Given the description of an element on the screen output the (x, y) to click on. 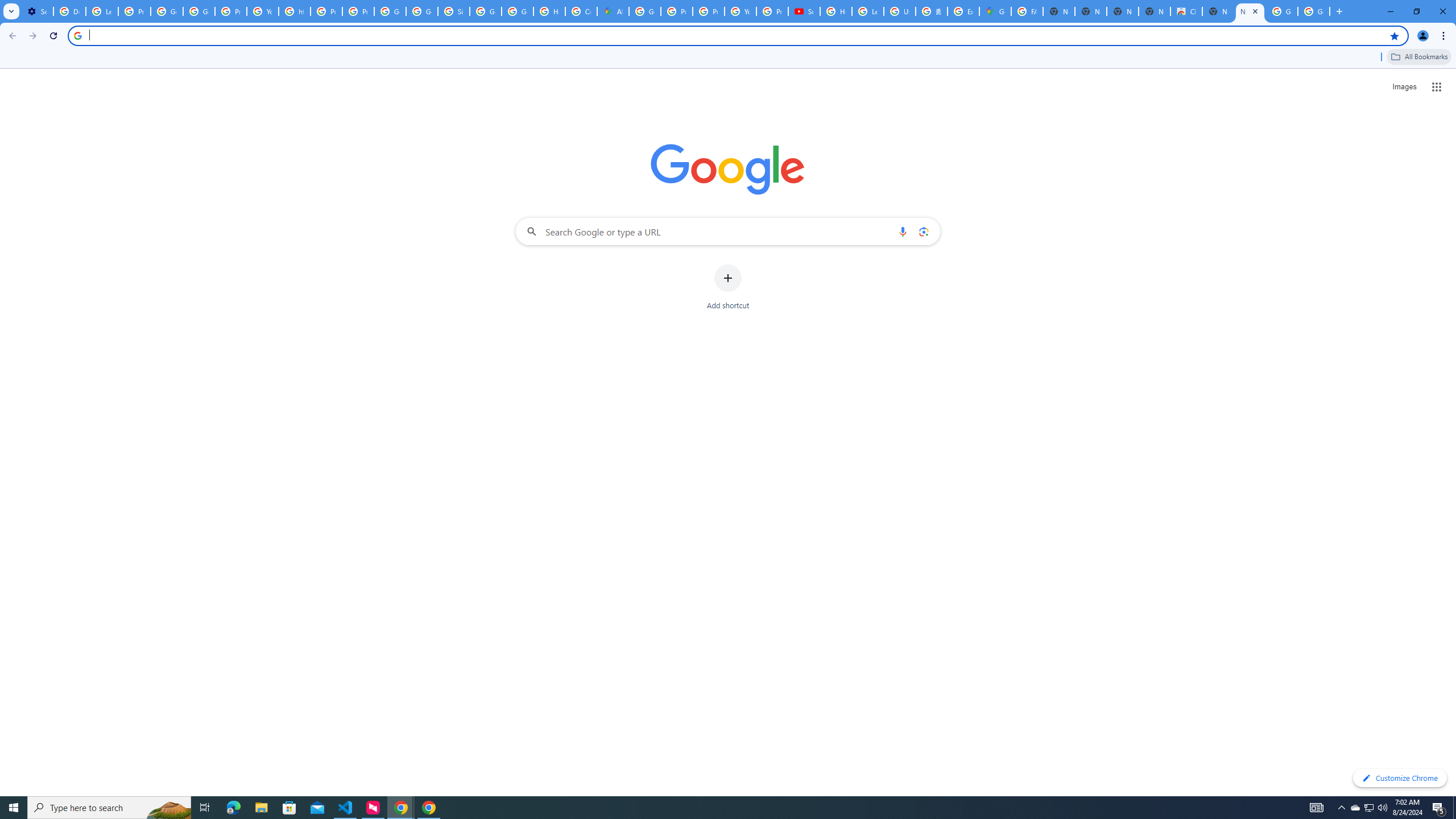
Google Account Help (166, 11)
Explore new street-level details - Google Maps Help (963, 11)
How Chrome protects your passwords - Google Chrome Help (836, 11)
Subscriptions - YouTube (804, 11)
Google Images (1313, 11)
